Given the description of an element on the screen output the (x, y) to click on. 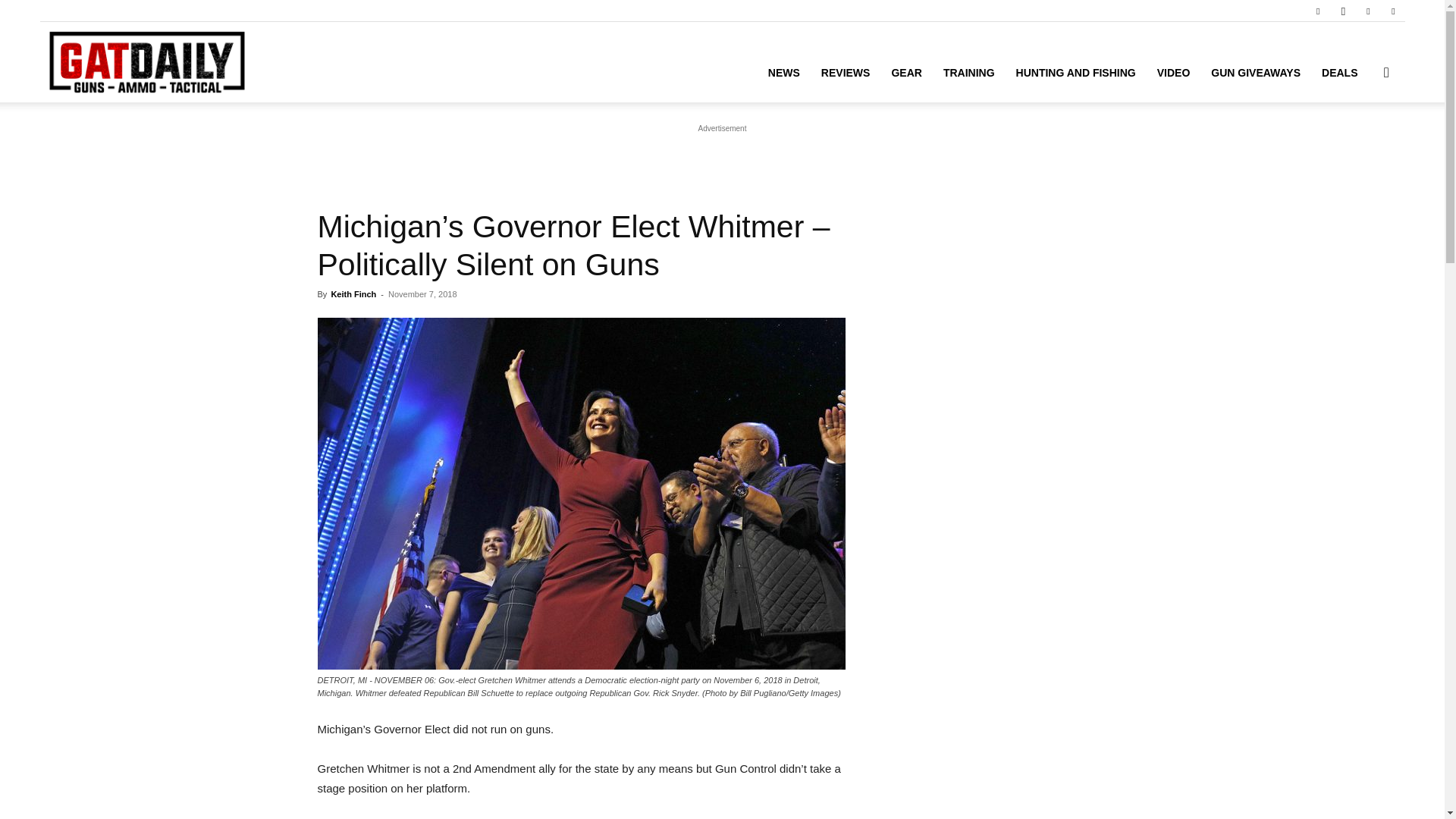
Instagram (1343, 10)
Search (1362, 144)
Facebook (1317, 10)
Youtube (1393, 10)
Guns Ammo Tactical Daily Gear Blog (146, 62)
Twitter (1367, 10)
